Given the description of an element on the screen output the (x, y) to click on. 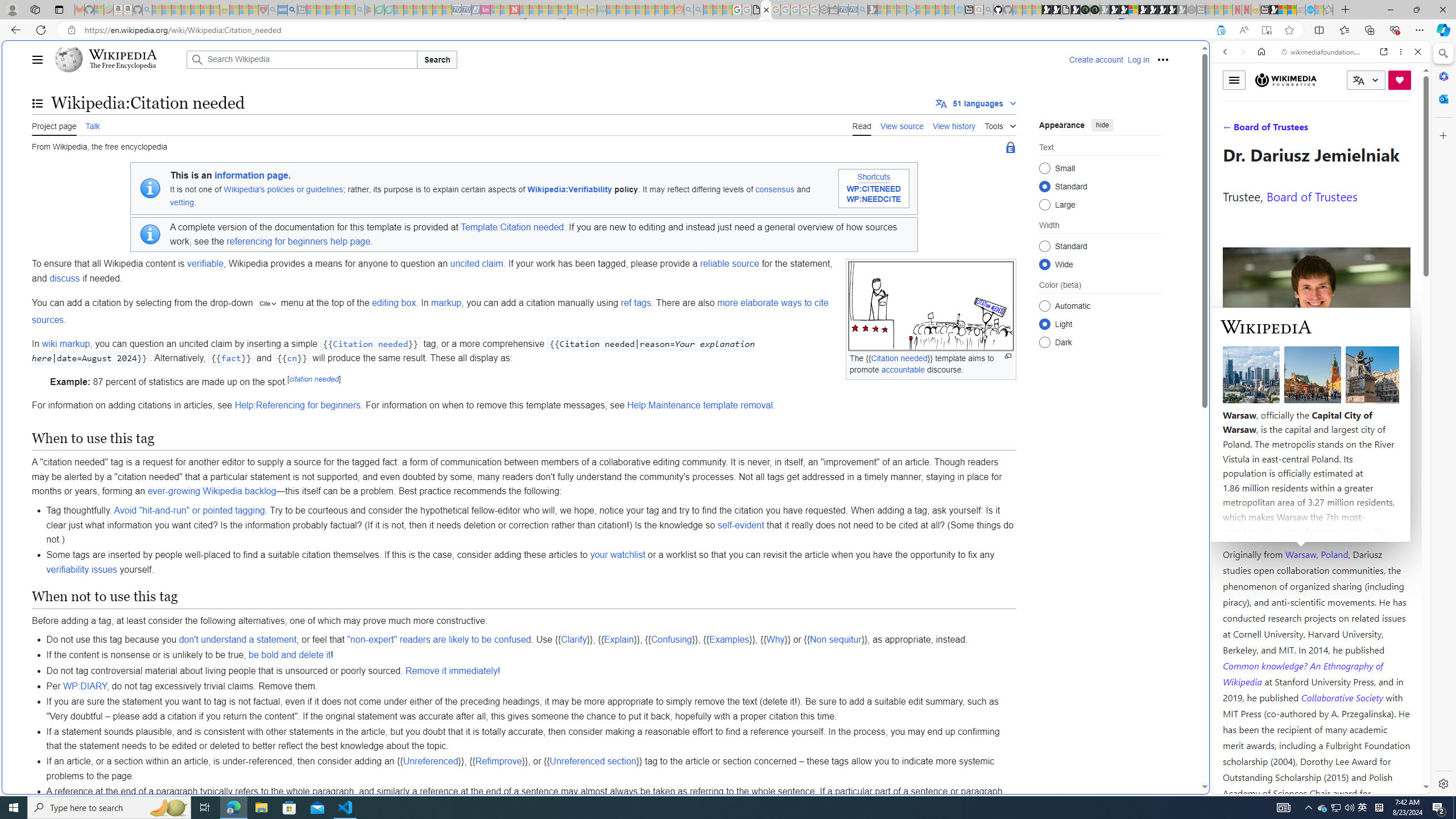
consensus (774, 189)
Examples (729, 639)
Toggle menu (1233, 80)
Earth has six continents not seven, radical new study claims (1291, 9)
Log in (1137, 58)
Main menu (37, 59)
